Given the description of an element on the screen output the (x, y) to click on. 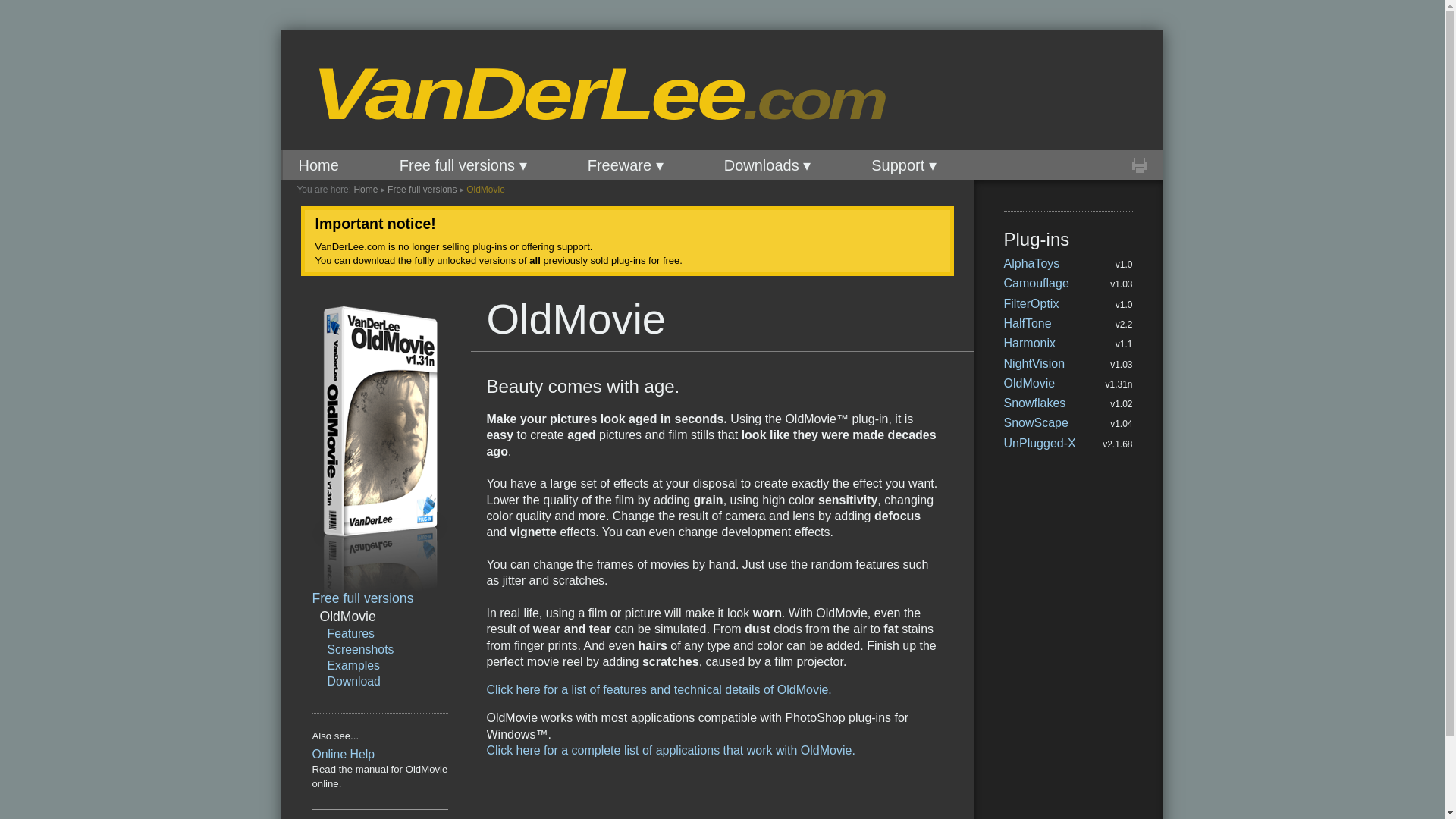
VanDerLee.com (540, 93)
Home (317, 164)
VanDerLee (540, 93)
Print this page (1139, 165)
